Given the description of an element on the screen output the (x, y) to click on. 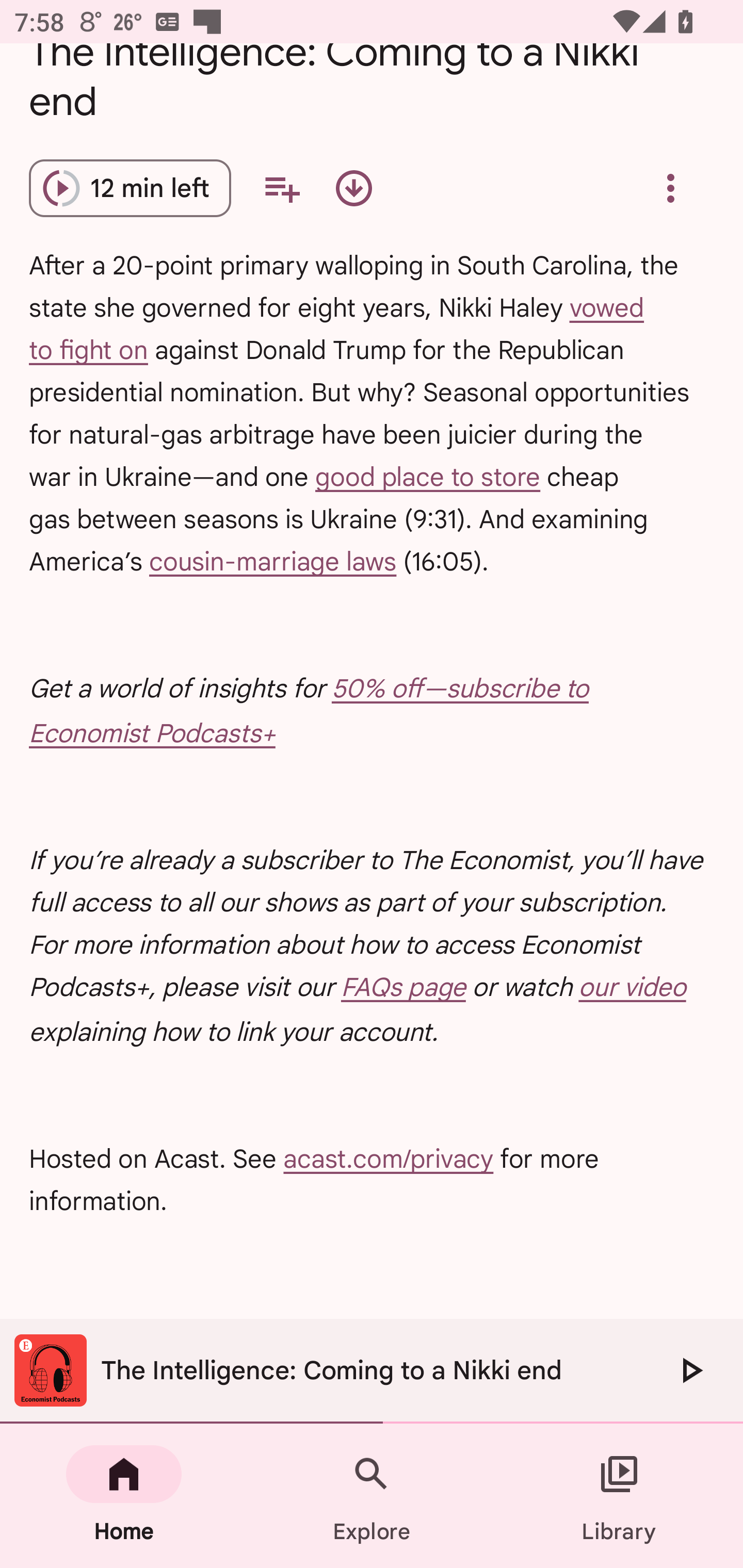
Add to your queue (281, 188)
Download episode (354, 188)
Overflow menu (670, 188)
Play (690, 1370)
Explore (371, 1495)
Library (619, 1495)
